Given the description of an element on the screen output the (x, y) to click on. 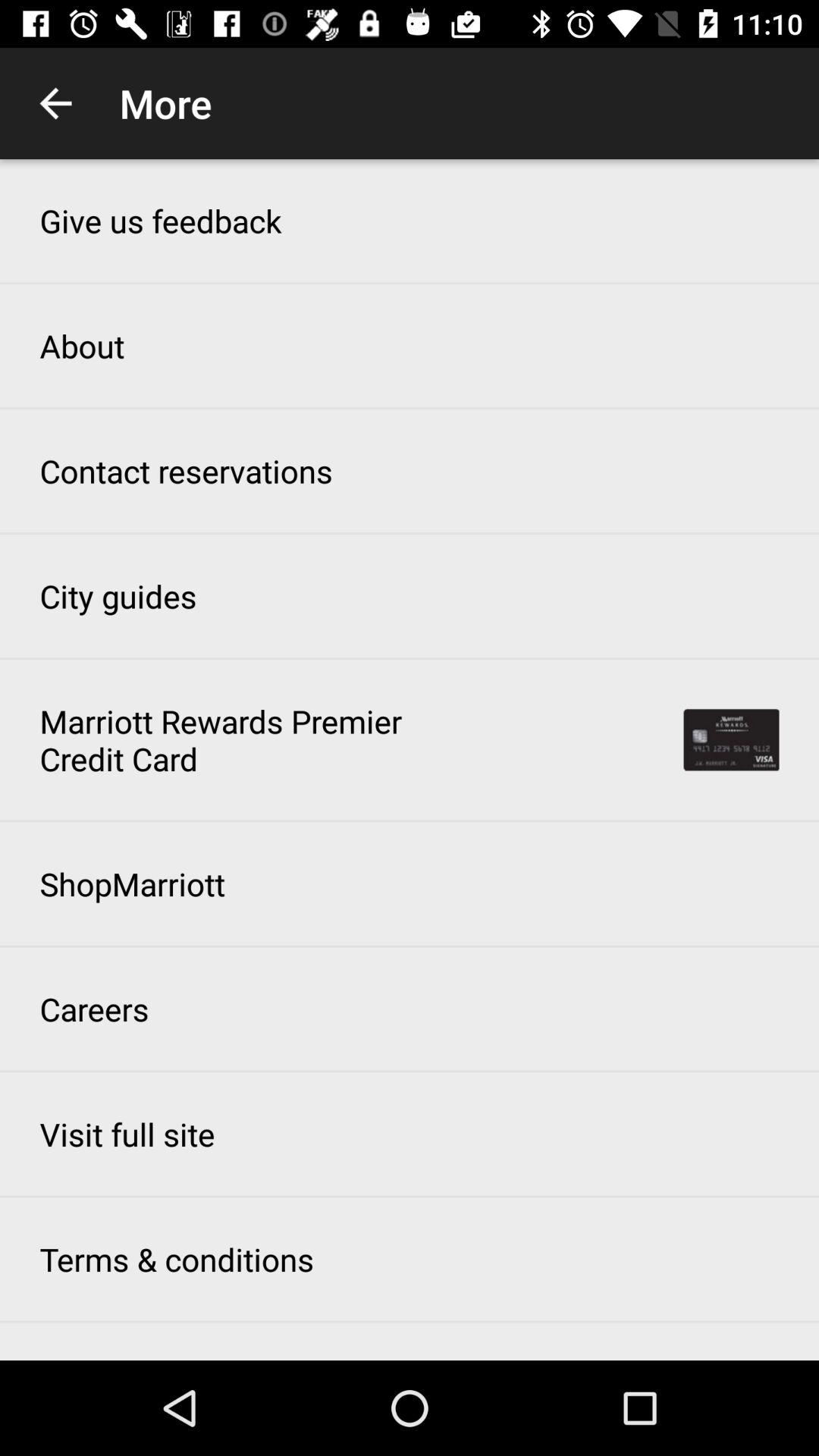
scroll to careers (94, 1008)
